Given the description of an element on the screen output the (x, y) to click on. 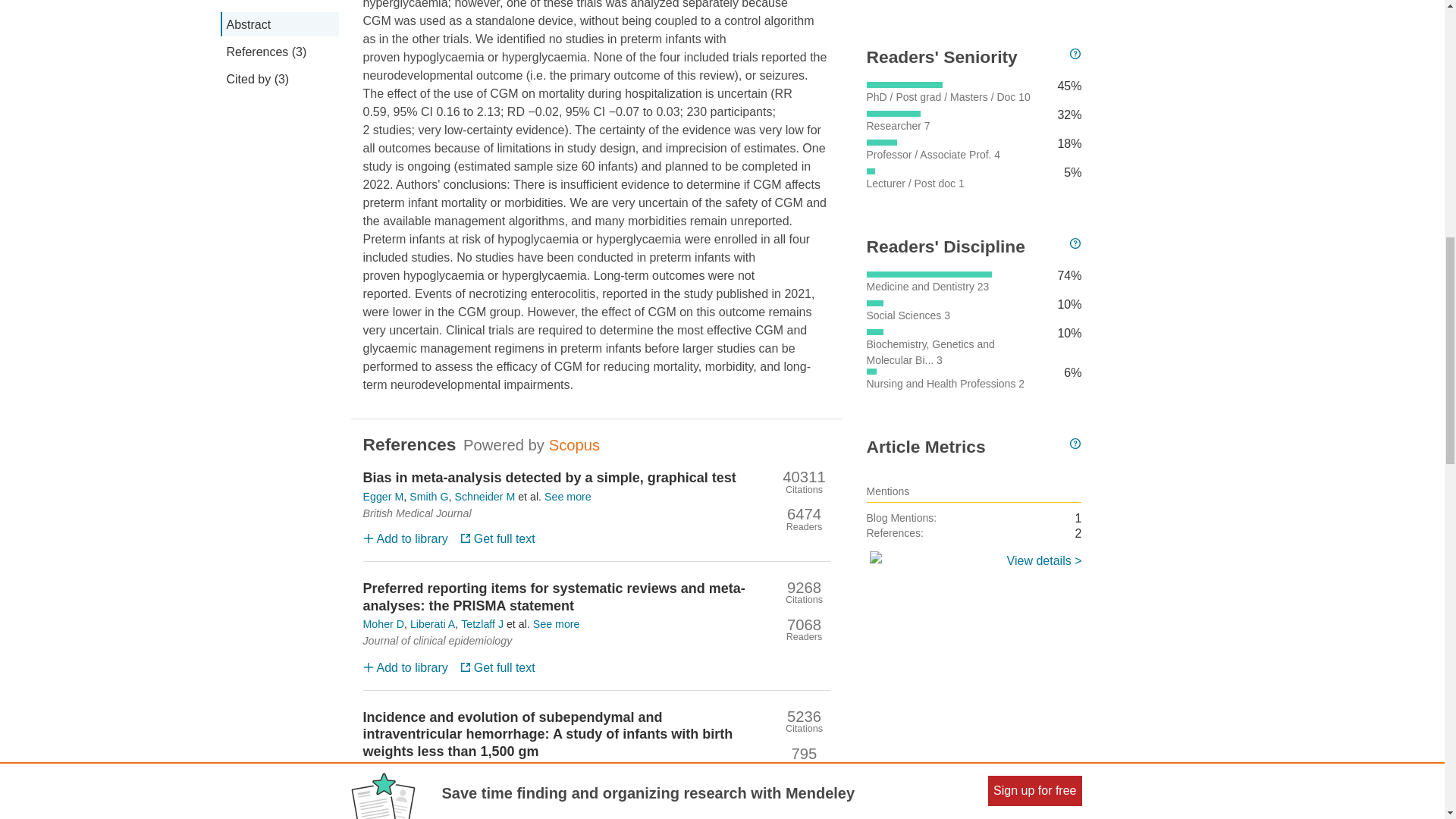
Get full text (497, 667)
Add to library (404, 667)
See more (555, 624)
Burstein J (431, 769)
Papile L (381, 769)
Smith G (428, 496)
Moher D (383, 624)
Tetzlaff J (482, 624)
See more (567, 496)
